Given the description of an element on the screen output the (x, y) to click on. 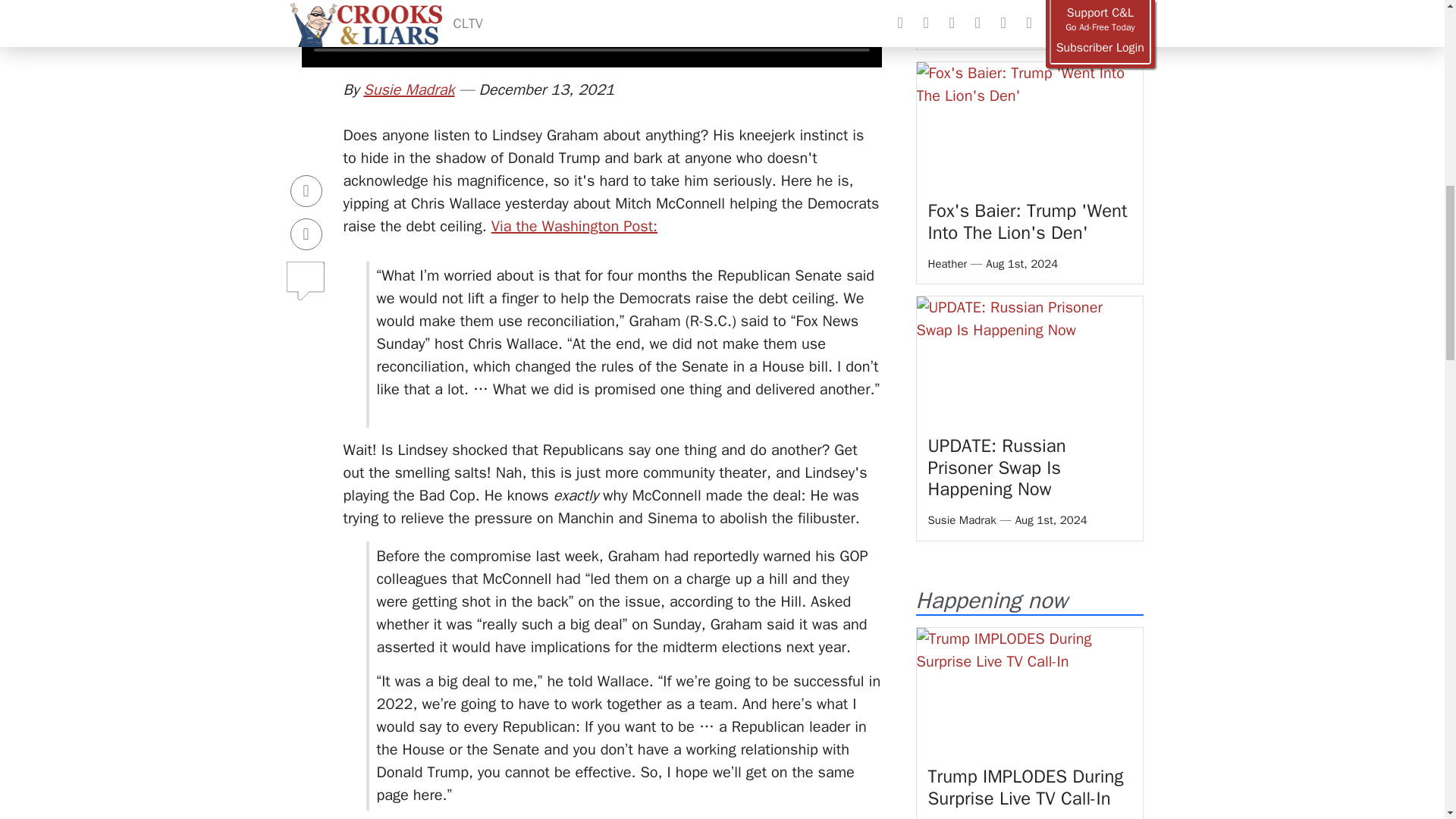
Share on Facebook (306, 117)
Share on Twitter (306, 160)
Comments (306, 201)
Via the Washington Post: (575, 226)
Susie Madrak (408, 89)
Susie Madrak (408, 89)
